Given the description of an element on the screen output the (x, y) to click on. 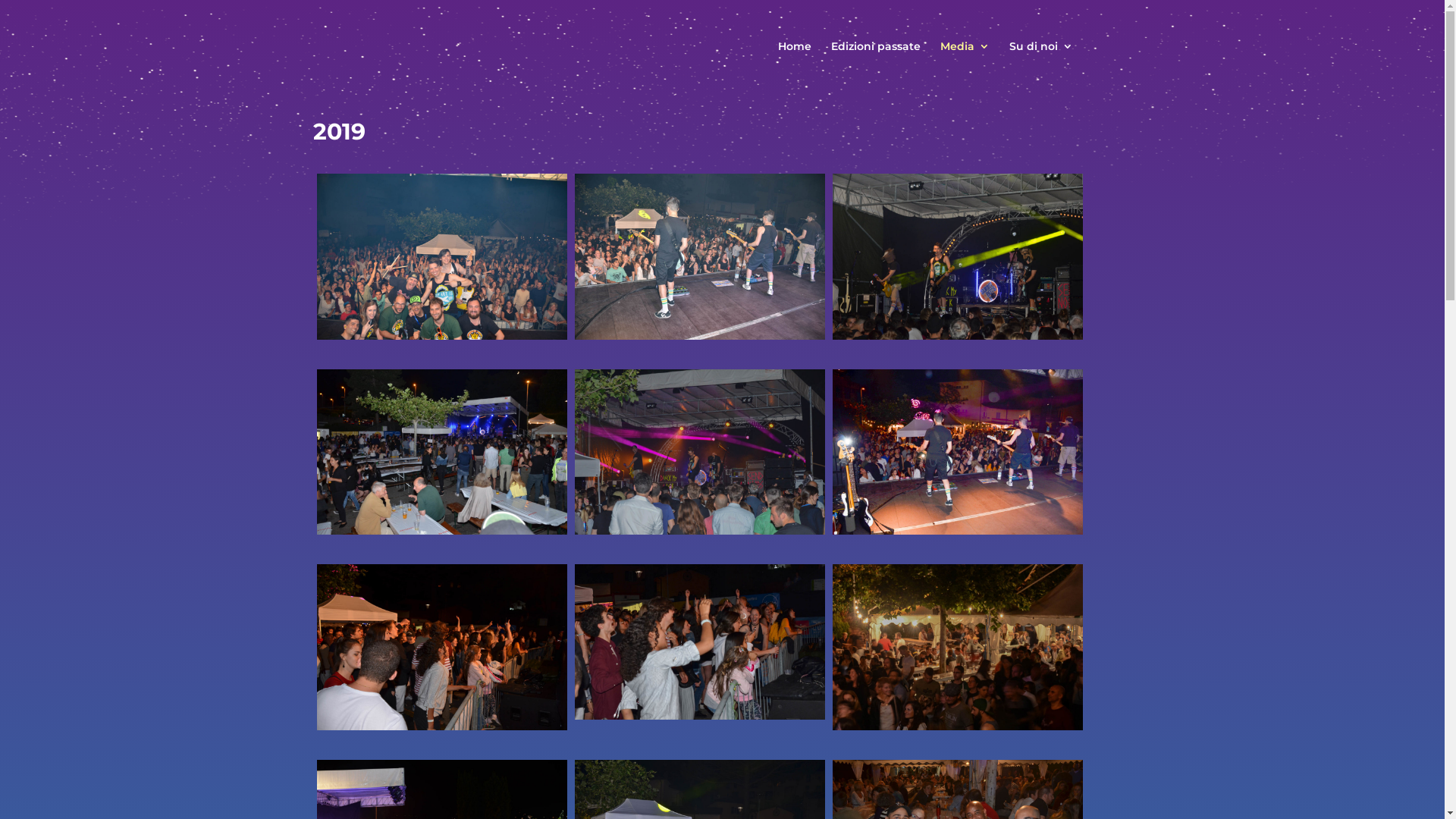
Edizioni passate Element type: text (875, 58)
2019.06.08 Brega estate sab 338 Element type: hover (699, 641)
2019.06.08 Brega estate sab 347 Element type: hover (699, 452)
2019.06.08 Brega estate sab 378 Element type: hover (441, 256)
2019.06.08 Brega estate sab 341 Element type: hover (957, 452)
Su di noi Element type: text (1040, 58)
2019.06.08 Brega estate sab 339 Element type: hover (441, 647)
Home Element type: text (794, 58)
2019.06.08 Brega estate sab 334 Element type: hover (957, 647)
2019.06.08 Brega estate sab 360 Element type: hover (957, 256)
Media Element type: text (964, 58)
2019.06.08 Brega estate sab 355 Element type: hover (441, 452)
2019.06.08 Brega estate sab 366 Element type: hover (699, 256)
